Given the description of an element on the screen output the (x, y) to click on. 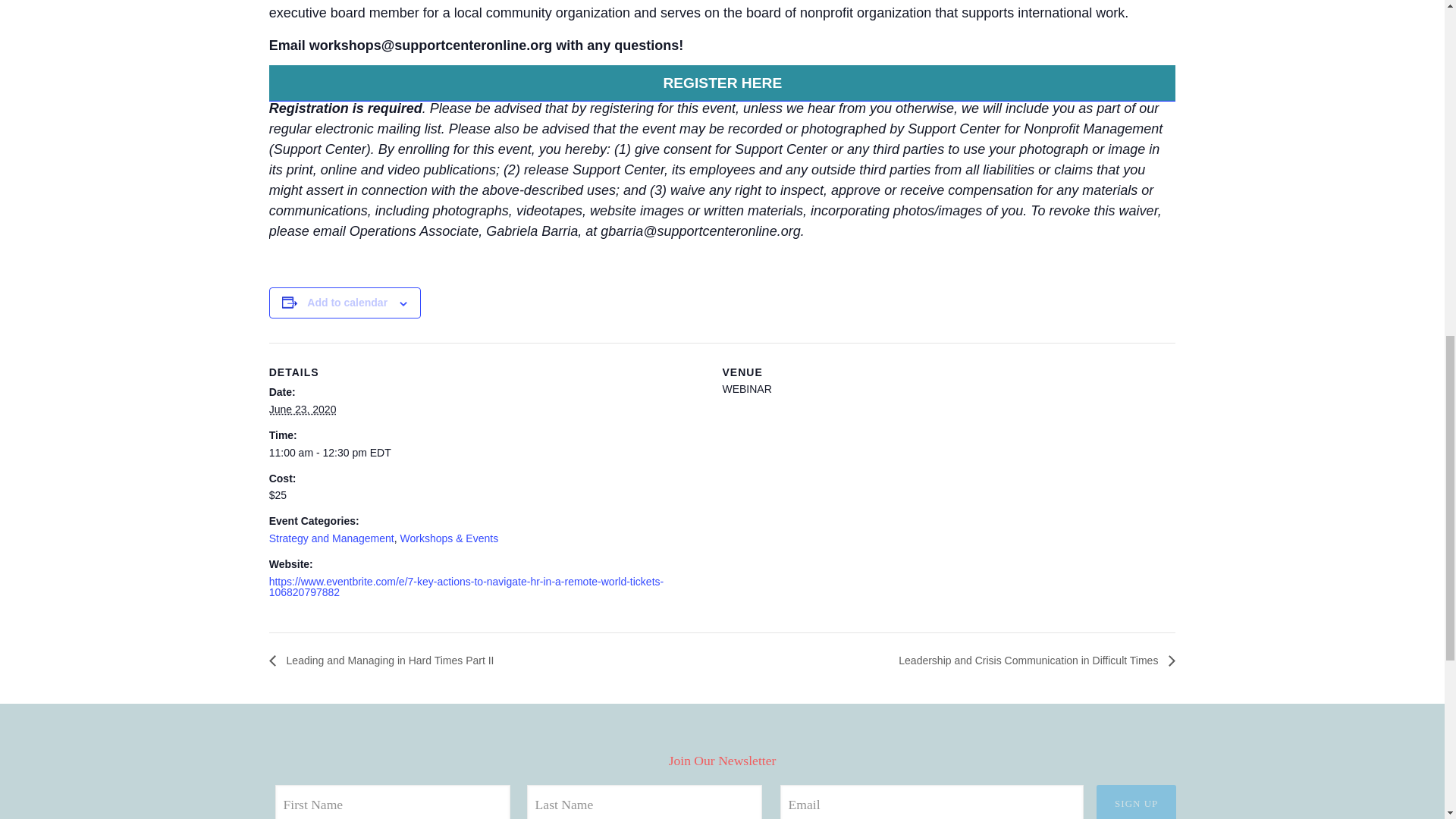
2020-06-23 (486, 452)
2020-06-23 (302, 409)
Sign Up (1136, 801)
